Given the description of an element on the screen output the (x, y) to click on. 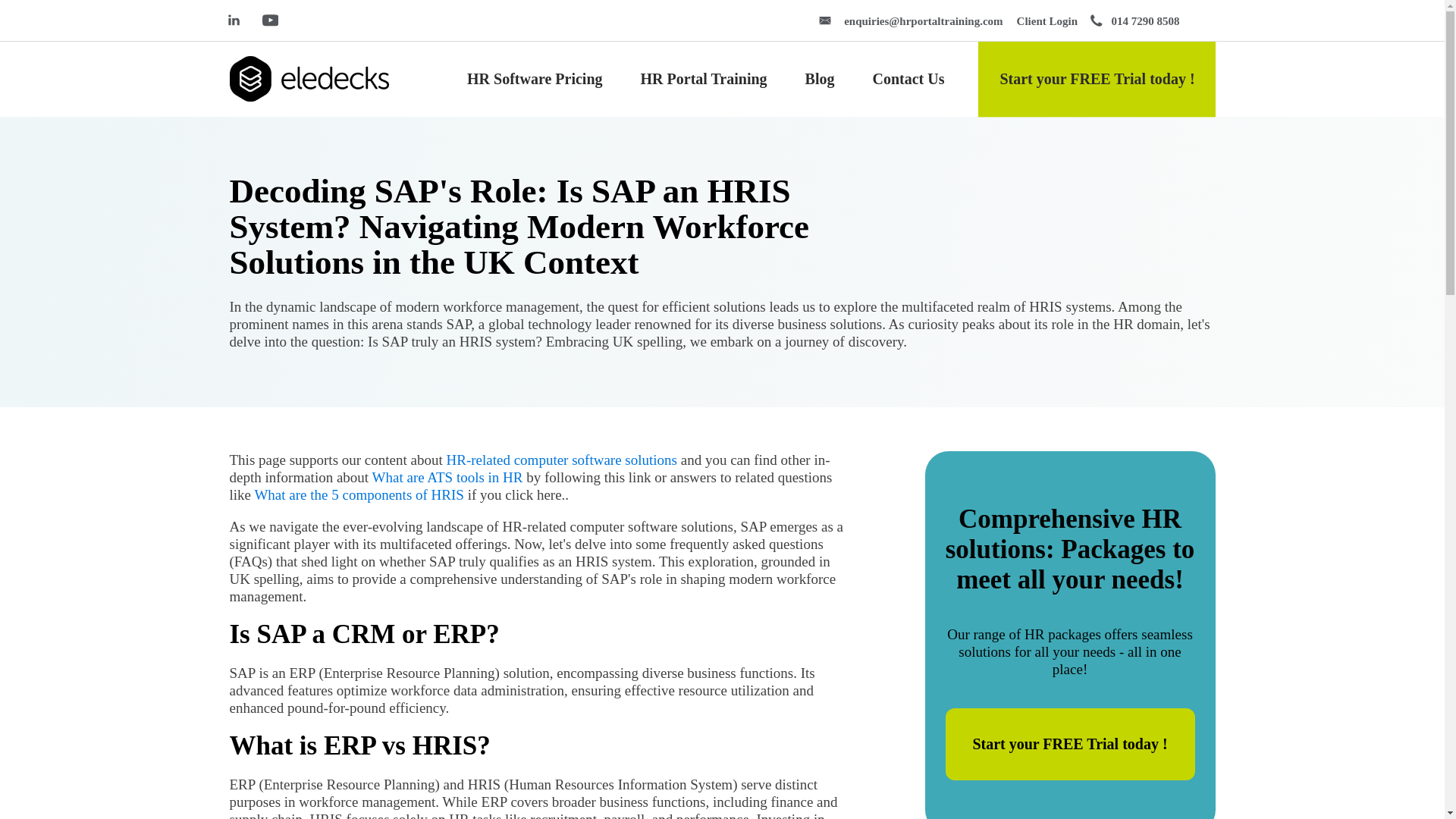
Contact Us (907, 79)
HR Software Pricing (534, 79)
Client Login (1046, 20)
HR Portal Training (703, 79)
What are the 5 components of HRIS (358, 494)
HR-related computer software solutions (561, 459)
What are ATS tools in HR (447, 477)
Blog (819, 79)
Start your FREE Trial today ! (1068, 744)
Start your FREE Trial today ! (1096, 78)
